Given the description of an element on the screen output the (x, y) to click on. 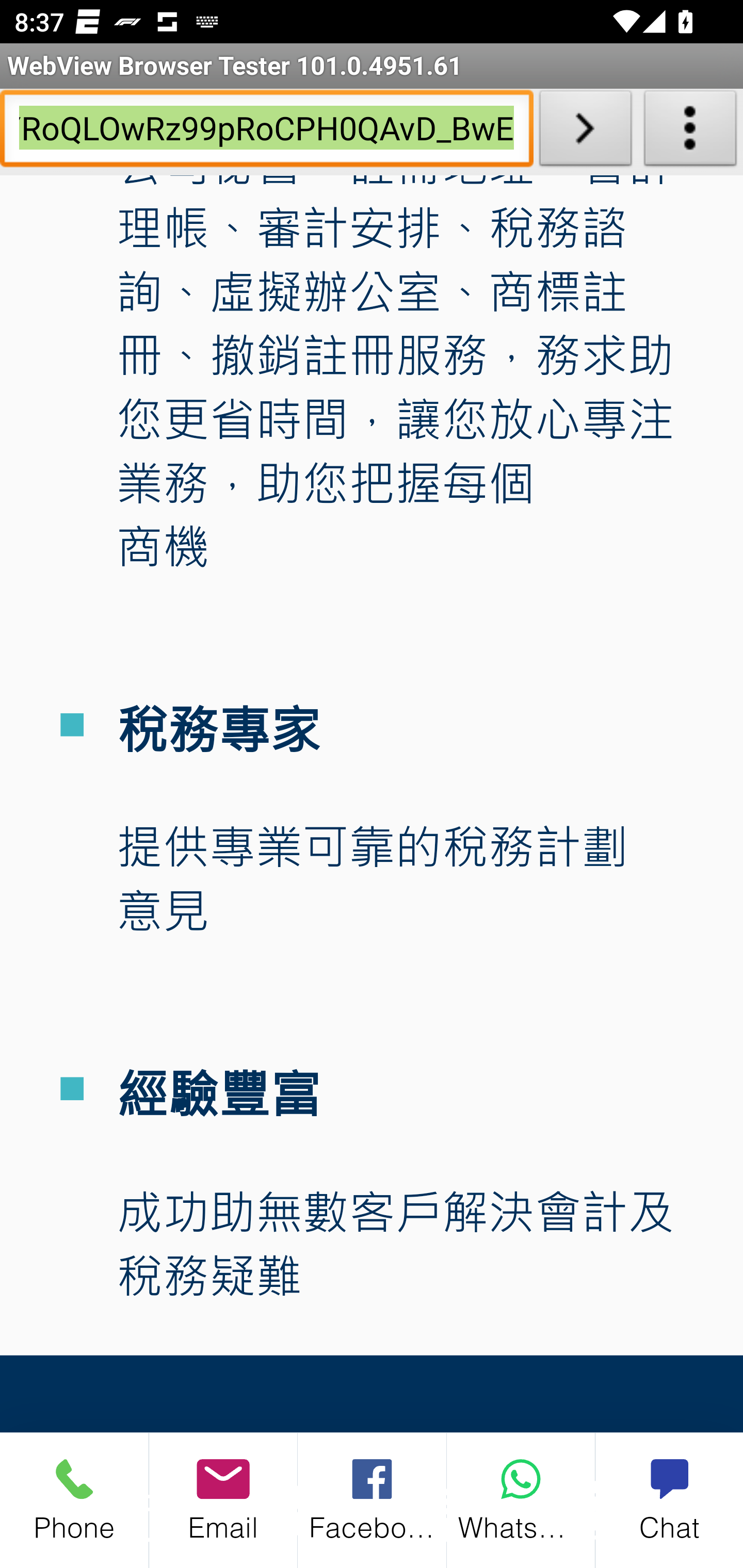
Load URL (585, 132)
About WebView (690, 132)
Phone (74, 1499)
Email (222, 1499)
Facebook (372, 1499)
WhatsApp (520, 1499)
Chat (669, 1499)
